Given the description of an element on the screen output the (x, y) to click on. 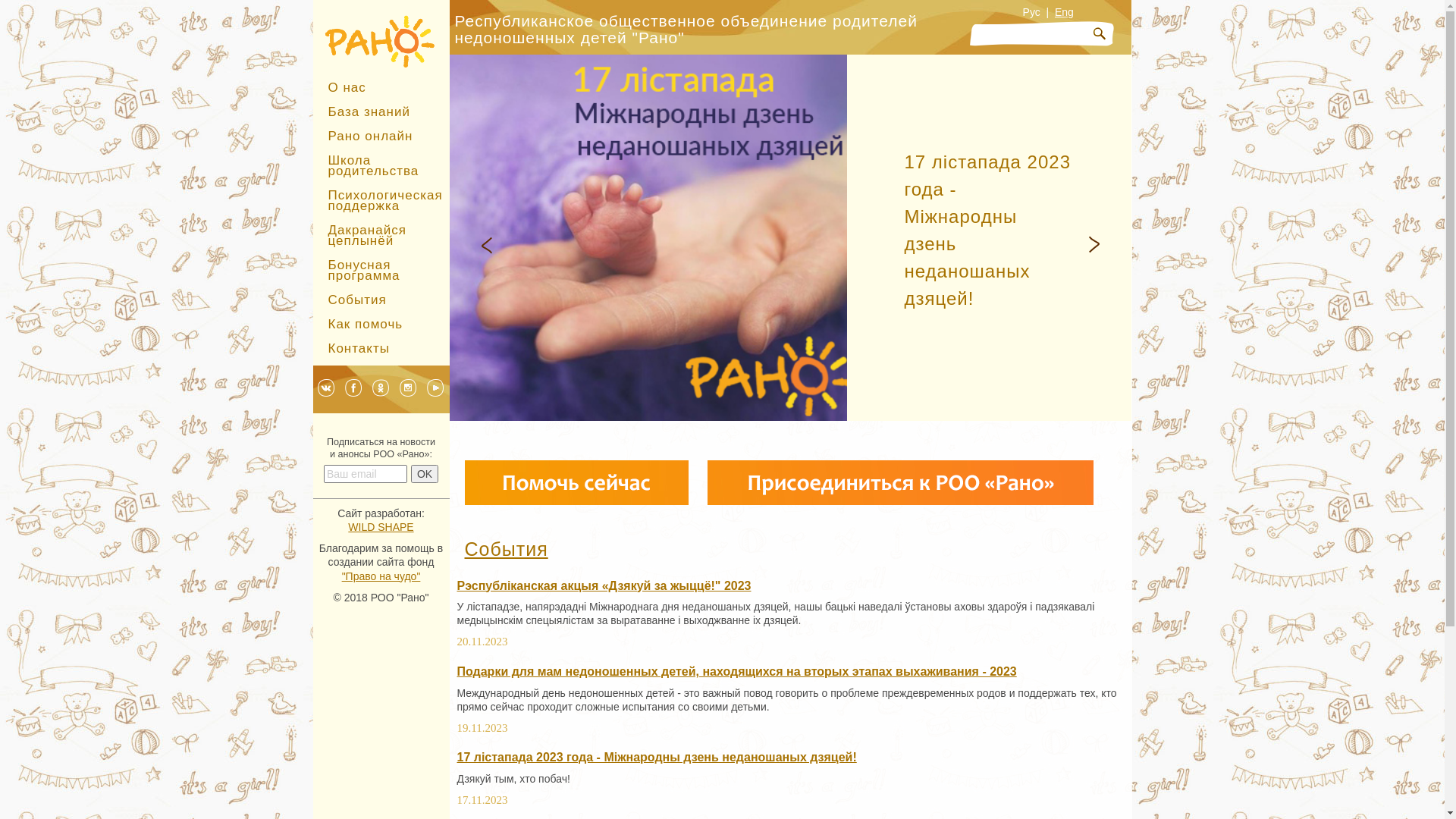
OK Element type: text (424, 473)
WILD SHAPE Element type: text (380, 526)
Eng Element type: text (1063, 12)
